Given the description of an element on the screen output the (x, y) to click on. 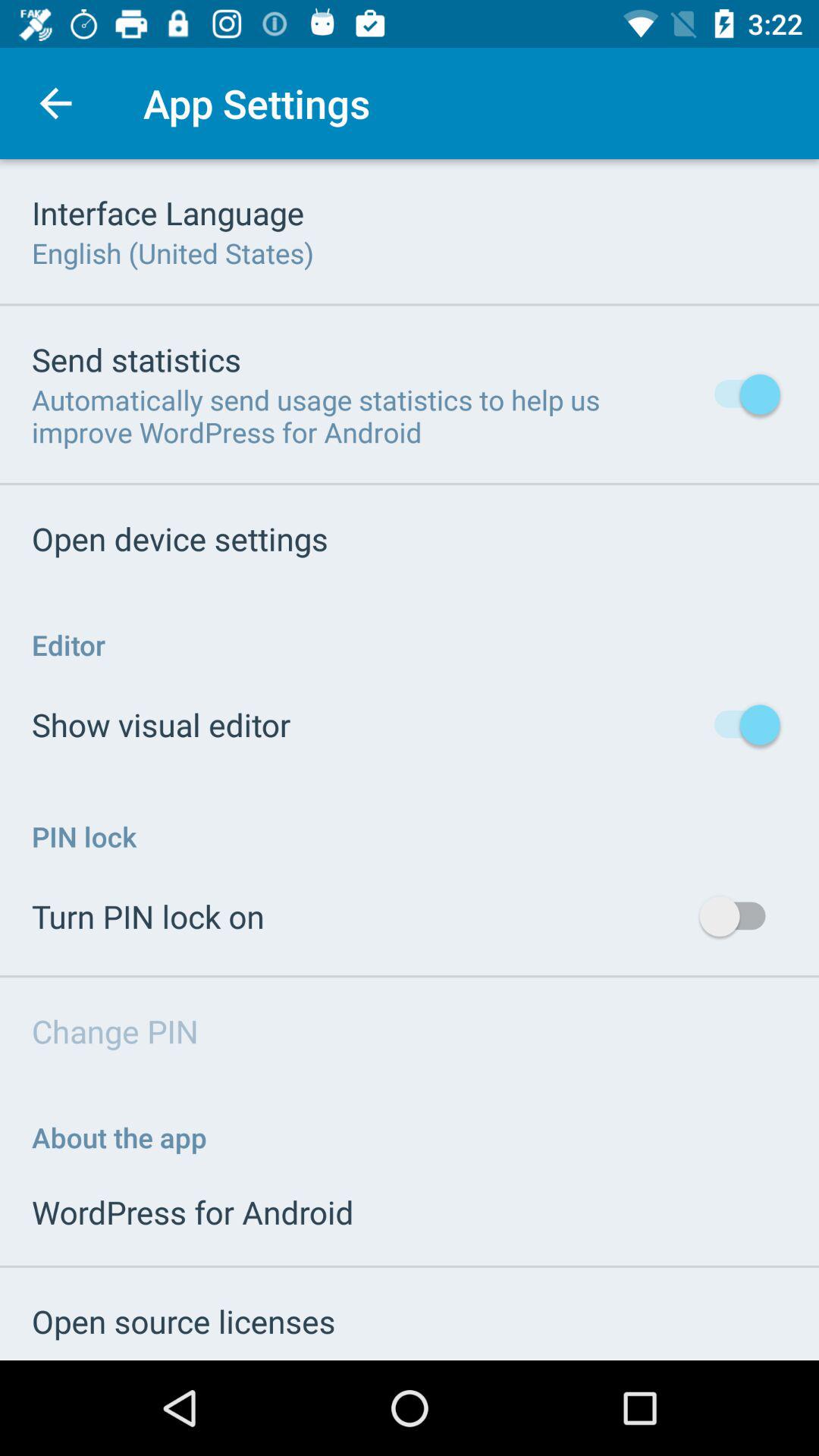
select the icon at the center (409, 759)
